Given the description of an element on the screen output the (x, y) to click on. 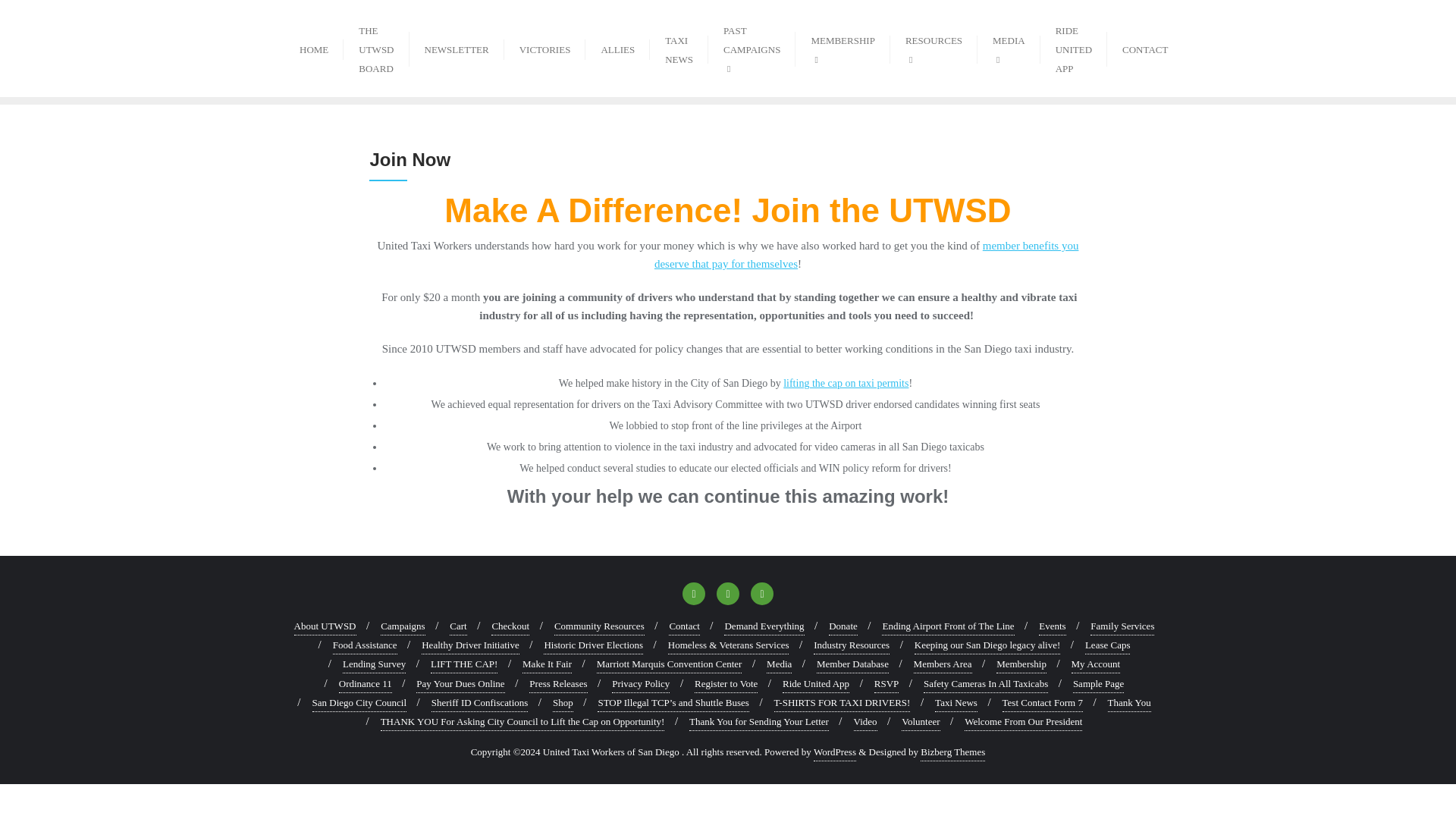
CONTACT (1144, 47)
NEWSLETTER (456, 47)
MEMBERSHIP (841, 47)
PAST CAMPAIGNS (750, 48)
HOME (313, 47)
VICTORIES (544, 47)
ALLIES (617, 47)
RESOURCES (932, 47)
